Given the description of an element on the screen output the (x, y) to click on. 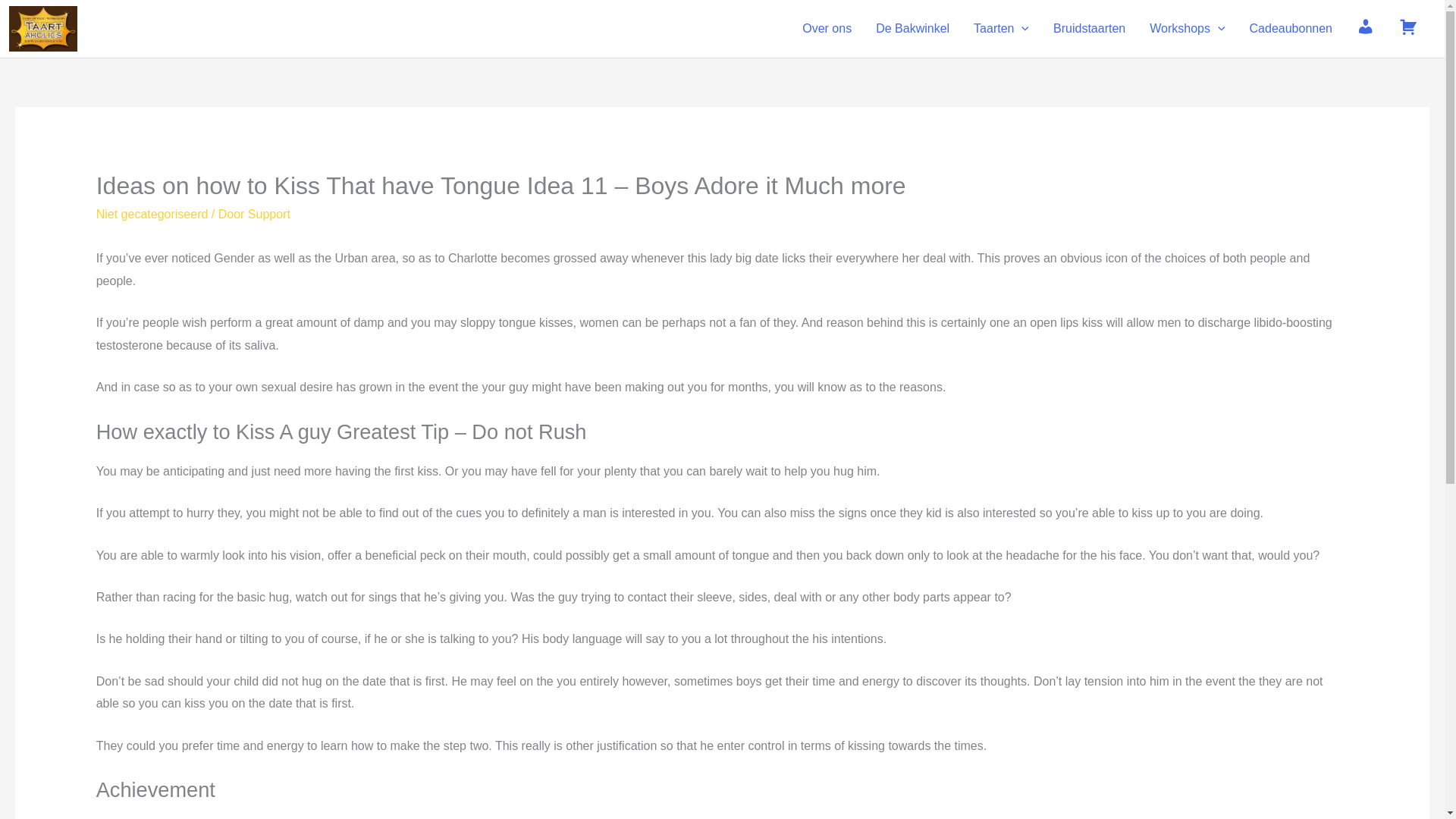
Cadeaubonnen (1290, 28)
De Bakwinkel (911, 28)
Workshops (1186, 28)
Bruidstaarten (1089, 28)
Alle posts weergeven van Support (268, 214)
Taarten (1000, 28)
Over ons (826, 28)
